Given the description of an element on the screen output the (x, y) to click on. 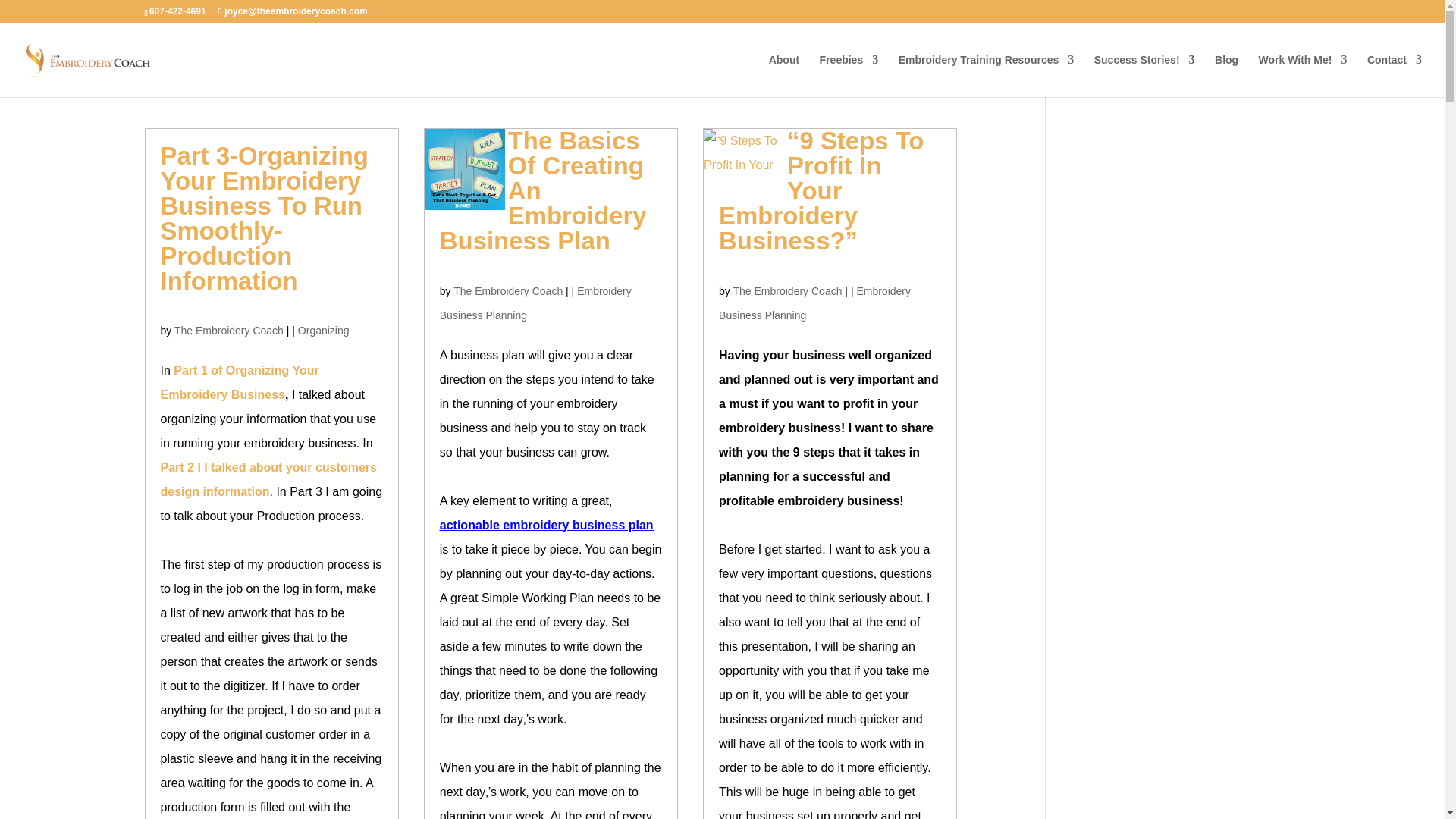
Contact (1394, 75)
Part 2 I l talked about your customers design information (268, 479)
Posts by The Embroidery Coach (507, 291)
Organizing Your Embroidery Business (268, 479)
Posts by The Embroidery Coach (786, 291)
Organizing Your Embroidery Business (239, 382)
Success Stories! (1144, 75)
The Embroidery Coach (228, 330)
The Basics Of Creating An Embroidery Business Plan (542, 190)
Freebies (849, 75)
